Given the description of an element on the screen output the (x, y) to click on. 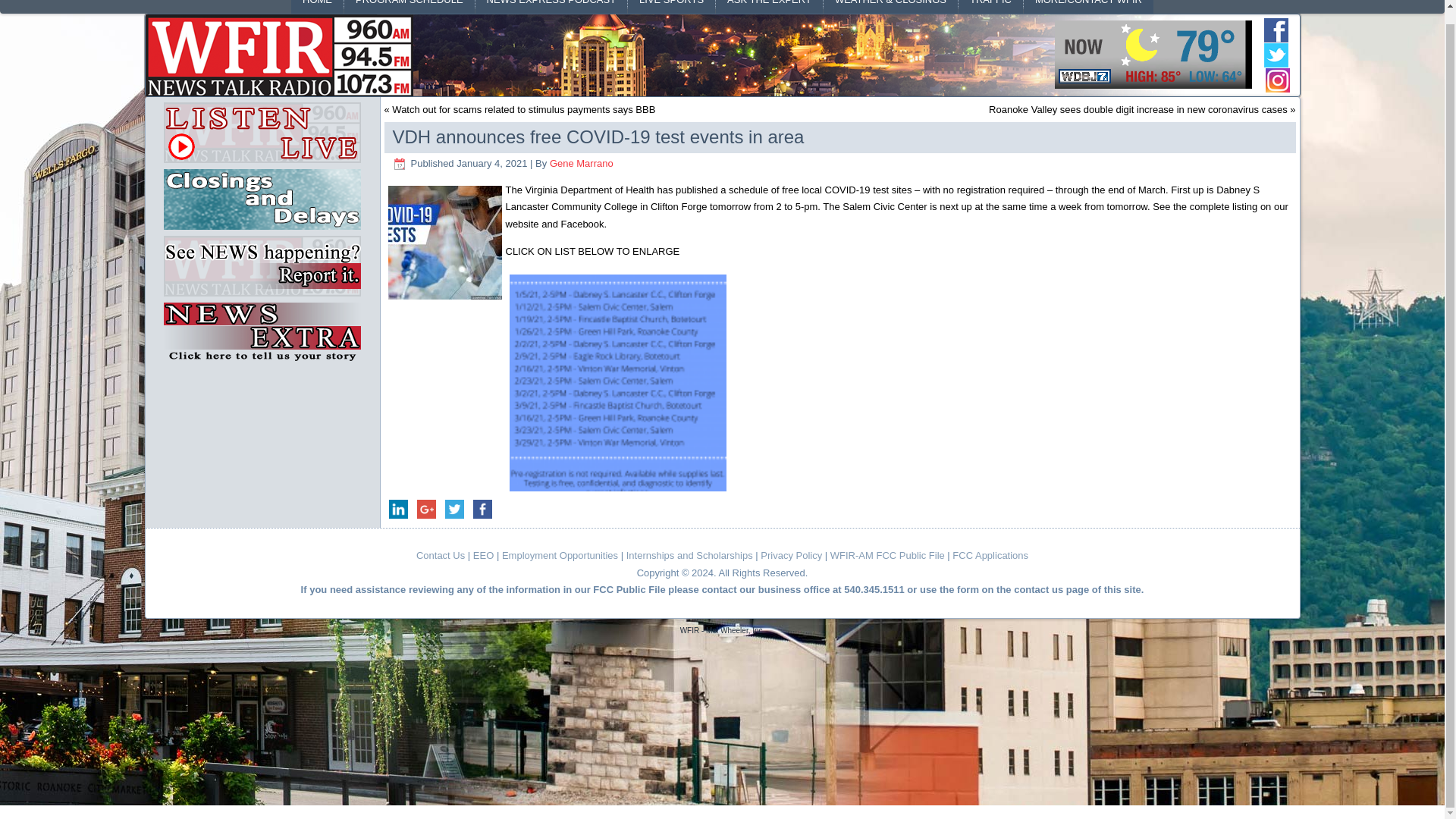
HOME (317, 6)
TRAFFIC (990, 6)
Ask The Expert (769, 6)
Program Schedule (408, 6)
LIVE SPORTS (670, 6)
Gene Marrano (581, 163)
ASK THE EXPERT (769, 6)
News Express Podcast (551, 6)
PROGRAM SCHEDULE (408, 6)
